Given the description of an element on the screen output the (x, y) to click on. 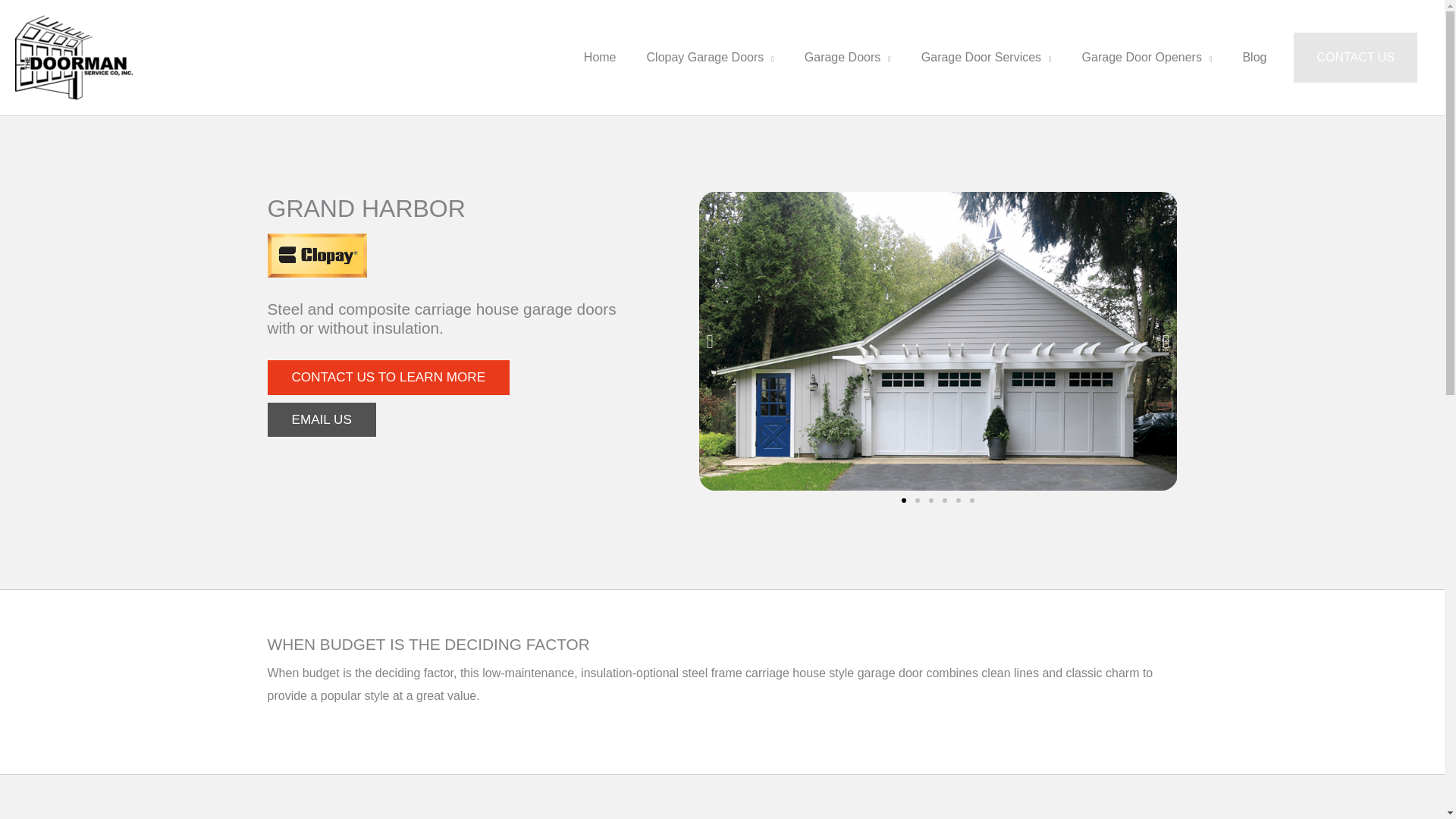
Home (600, 57)
CONTACT US TO LEARN MORE (387, 376)
Clopay Garage Doors (710, 57)
Garage Doors (847, 57)
CONTACT US (1355, 57)
EMAIL US (320, 419)
Garage Door Services (986, 57)
Garage Door Openers (1147, 57)
